Given the description of an element on the screen output the (x, y) to click on. 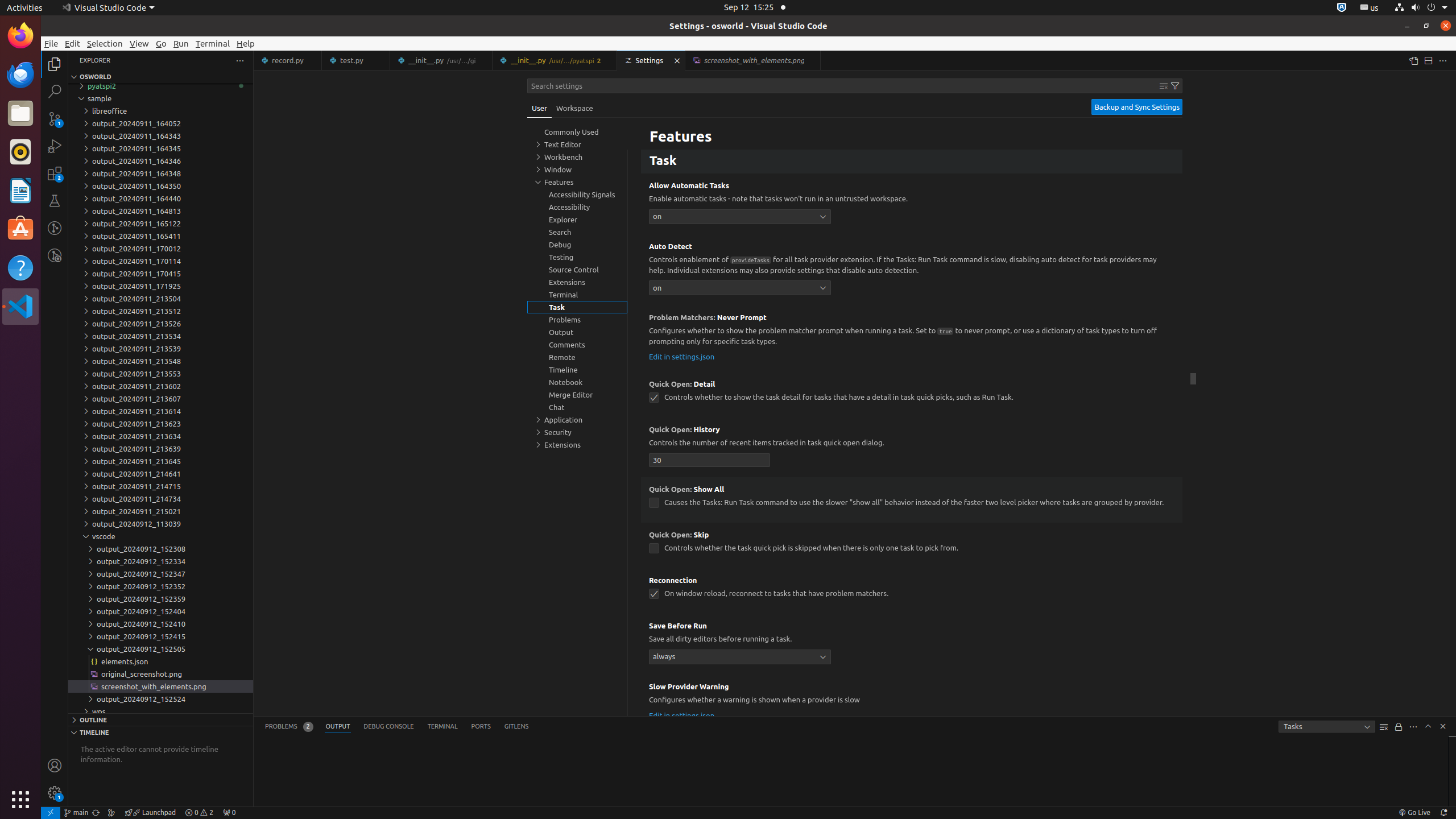
Extensions (Ctrl+Shift+X) - 2 require restart Extensions (Ctrl+Shift+X) - 2 require restart Element type: page-tab (54, 173)
Text Editor, group Element type: tree-item (577, 144)
task.quickOpen.showAll Element type: check-box (653, 502)
output_20240911_213639 Element type: tree-item (160, 448)
Hide Panel Element type: push-button (1442, 726)
